Given the description of an element on the screen output the (x, y) to click on. 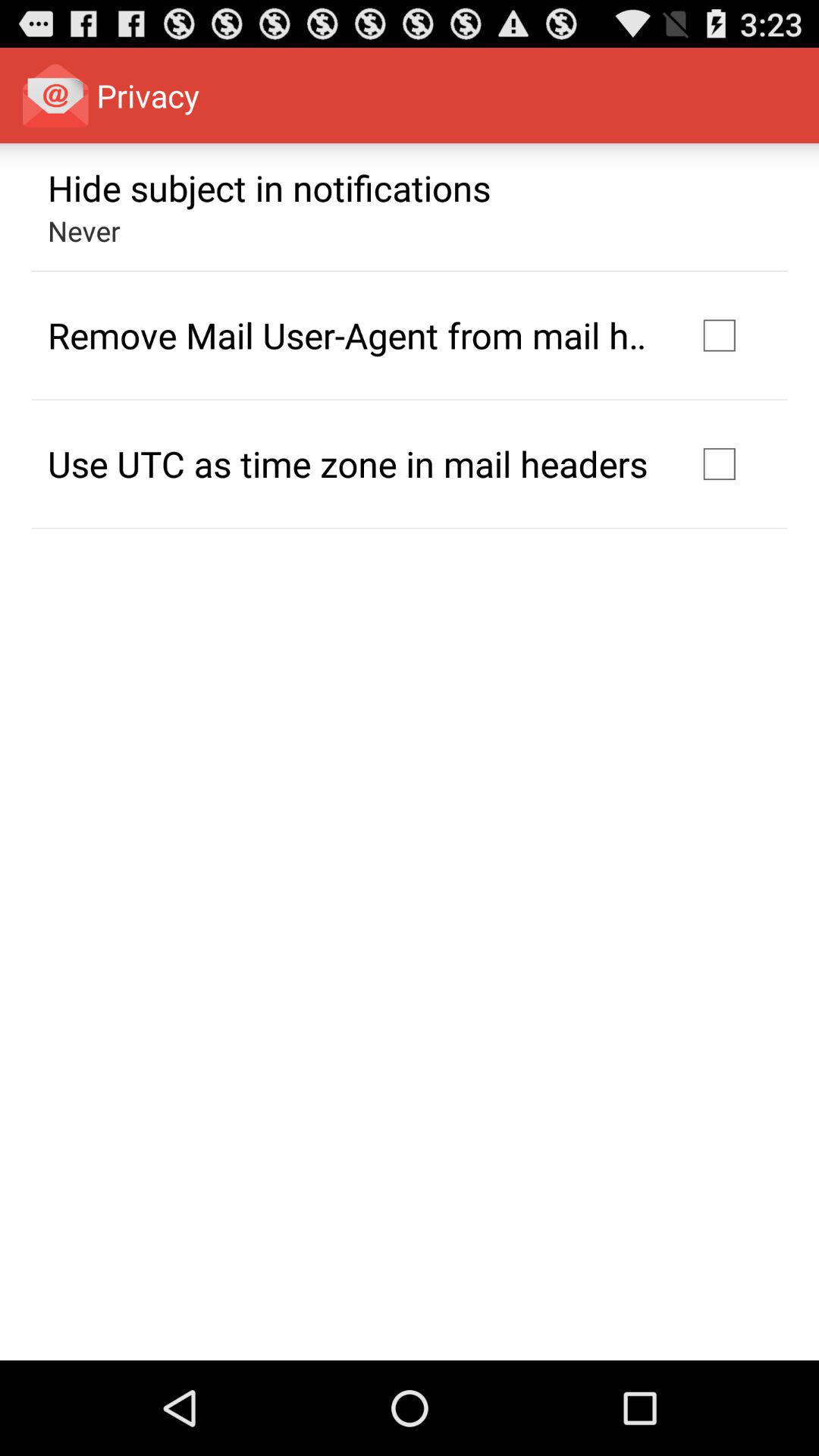
swipe until the never app (83, 230)
